Given the description of an element on the screen output the (x, y) to click on. 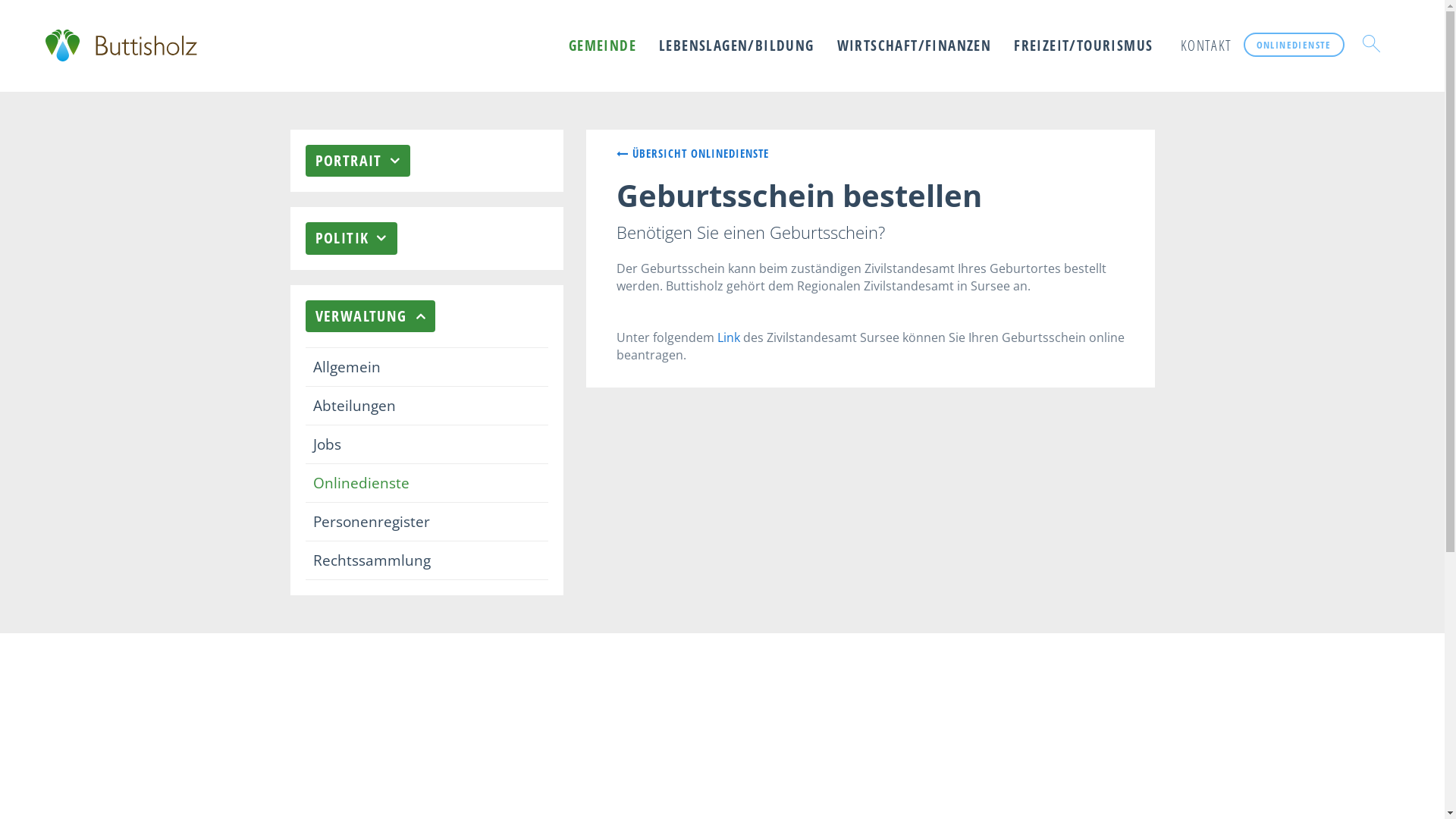
Personenregister Element type: text (425, 521)
Link Element type: text (728, 337)
WIRTSCHAFT/FINANZEN Element type: text (914, 45)
GEMEINDE Element type: text (602, 45)
Startseite Element type: hover (121, 45)
POLITIK Element type: text (350, 238)
Jobs Element type: text (425, 443)
VERWALTUNG Element type: text (369, 316)
PORTRAIT Element type: text (357, 160)
ONLINEDIENSTE Element type: text (1293, 44)
Allgemein Element type: text (425, 366)
Onlinedienste Element type: text (425, 482)
 KONTAKT Element type: text (1203, 45)
Rechtssammlung Element type: text (425, 559)
FREIZEIT/TOURISMUS Element type: text (1083, 45)
Abteilungen Element type: text (425, 404)
LEBENSLAGEN/BILDUNG Element type: text (736, 45)
